Given the description of an element on the screen output the (x, y) to click on. 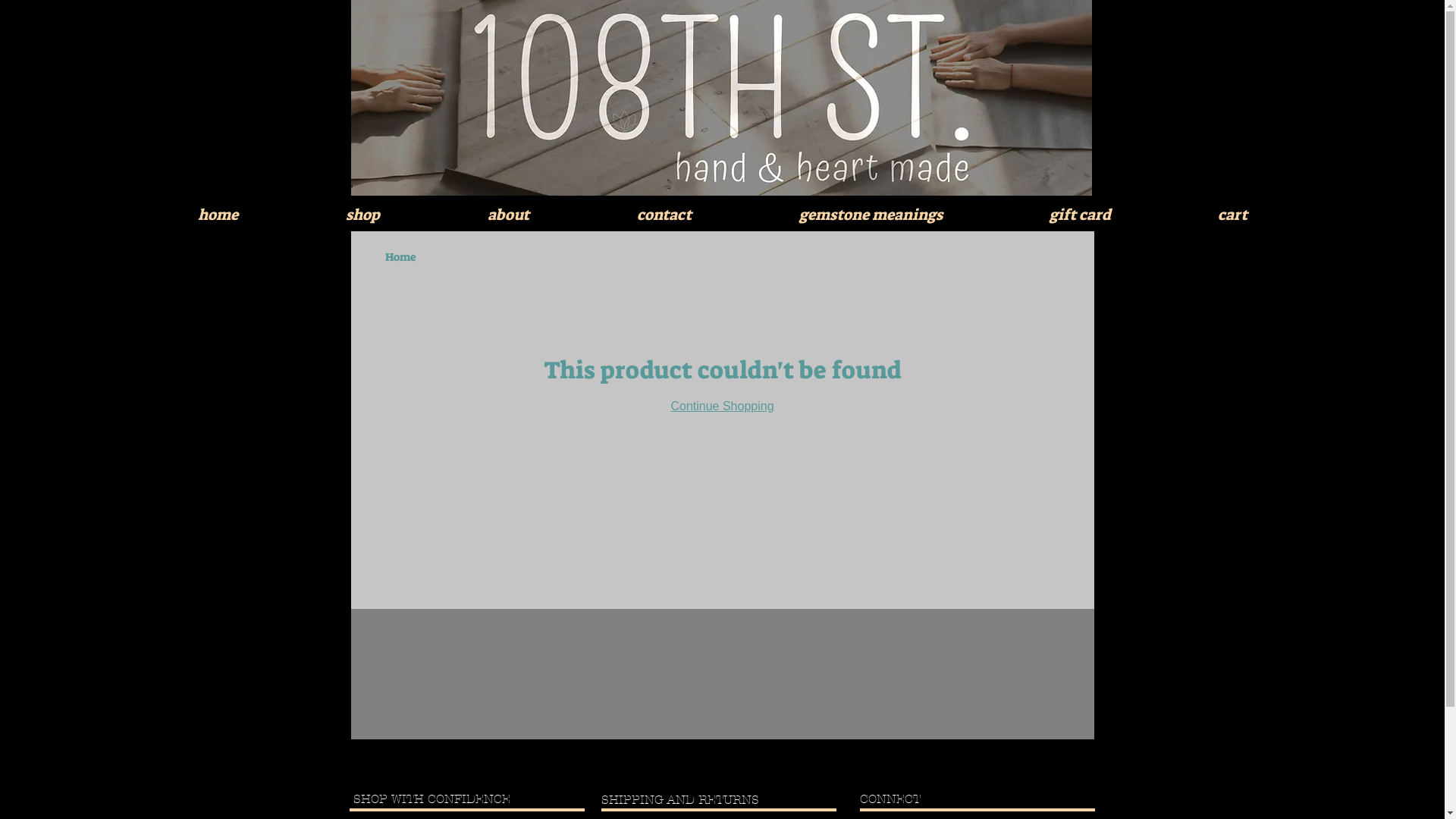
cart Element type: text (1232, 214)
Continue Shopping Element type: text (721, 405)
about Element type: text (508, 214)
Home Element type: text (400, 256)
contact Element type: text (664, 214)
gemstone meanings Element type: text (870, 214)
home Element type: text (217, 214)
gift card Element type: text (1079, 214)
